Given the description of an element on the screen output the (x, y) to click on. 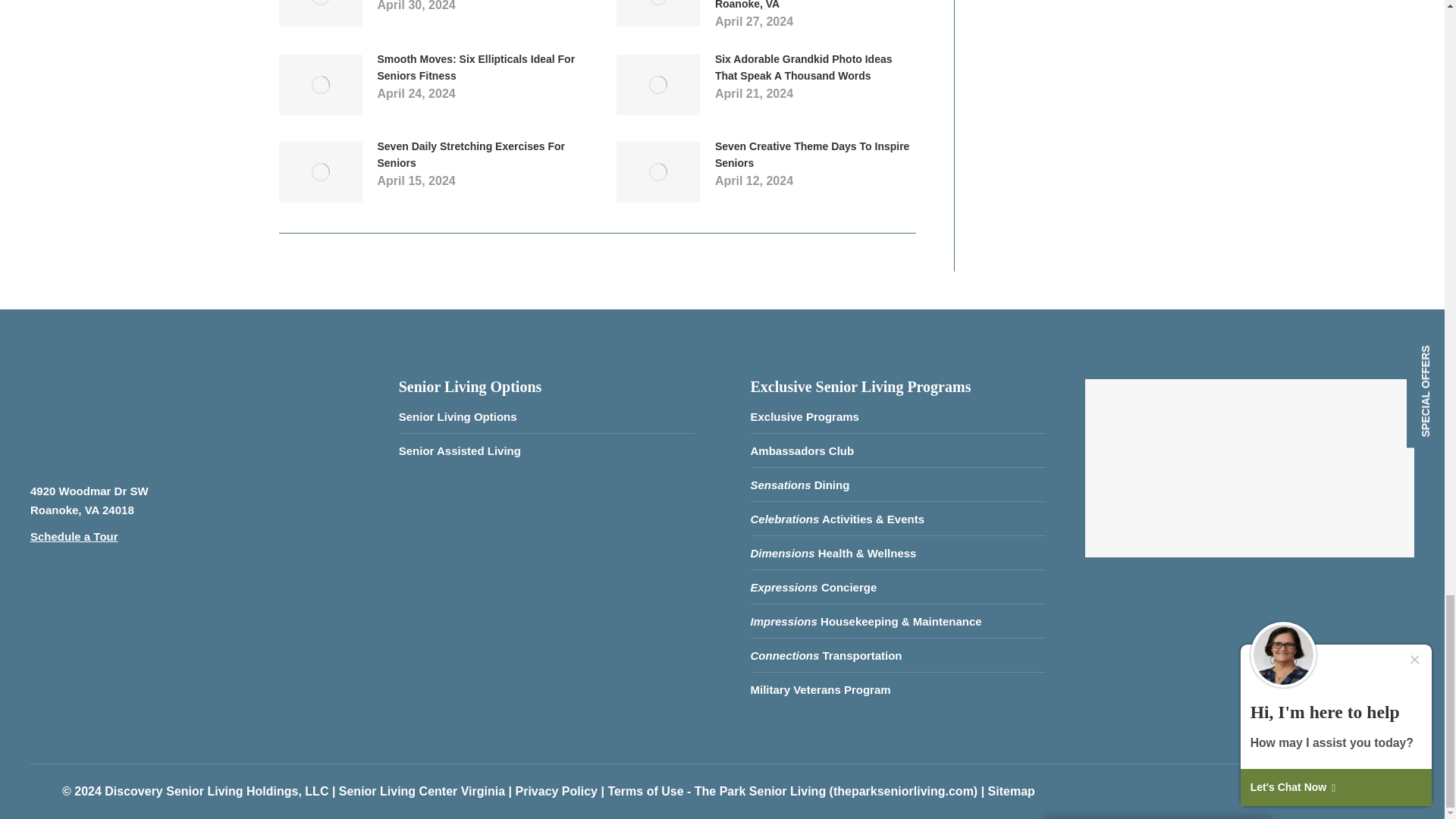
thepark-footer-logo (113, 417)
Equal-Housing-Opportunity-logo22-150x144-1 (195, 616)
Equal-Housing-Opportunity-logo222 (77, 615)
